Given the description of an element on the screen output the (x, y) to click on. 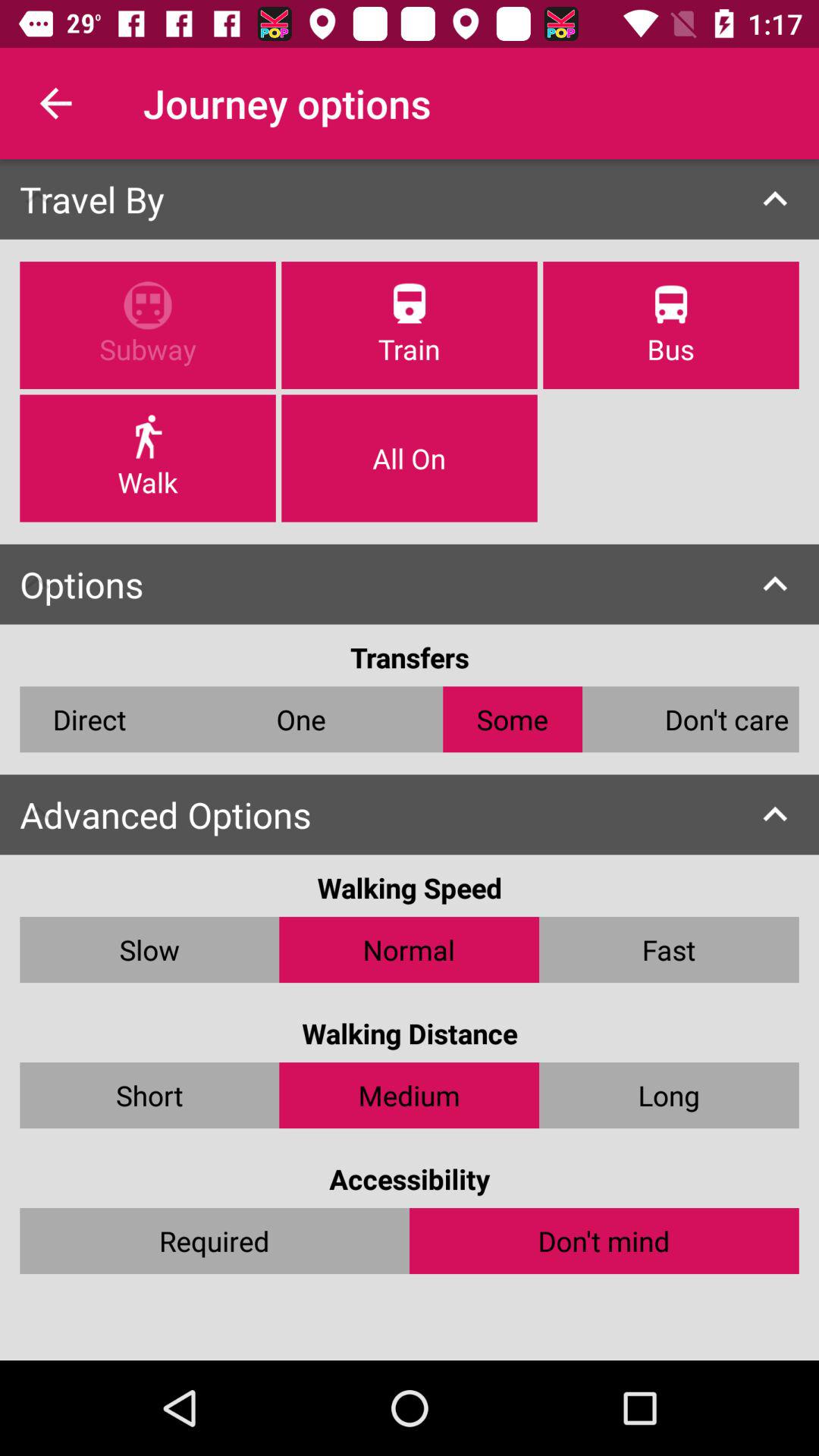
open the slow icon (149, 949)
